Given the description of an element on the screen output the (x, y) to click on. 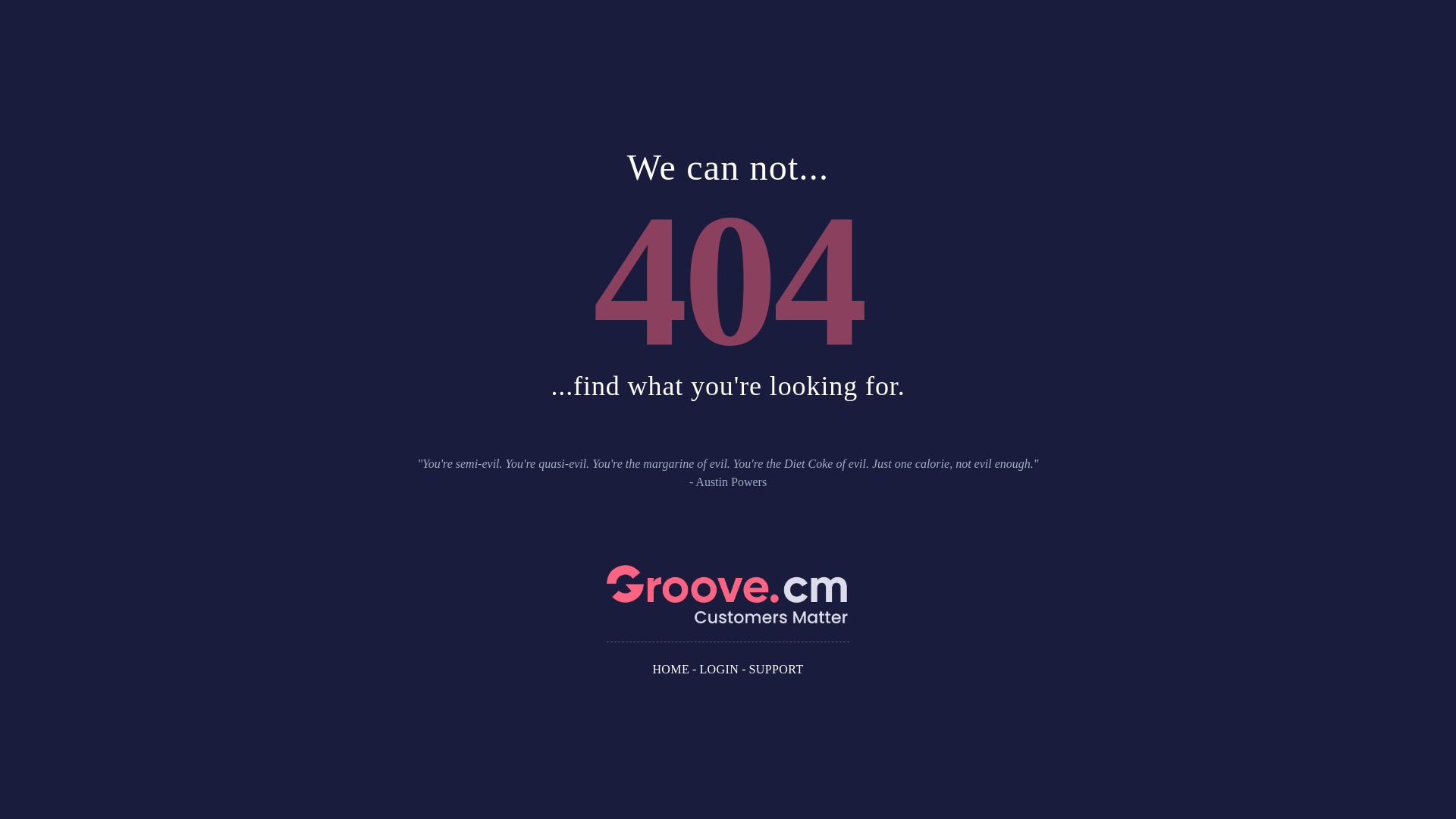
SUPPORT Element type: text (776, 668)
LOGIN Element type: text (718, 668)
HOME Element type: text (670, 668)
